Given the description of an element on the screen output the (x, y) to click on. 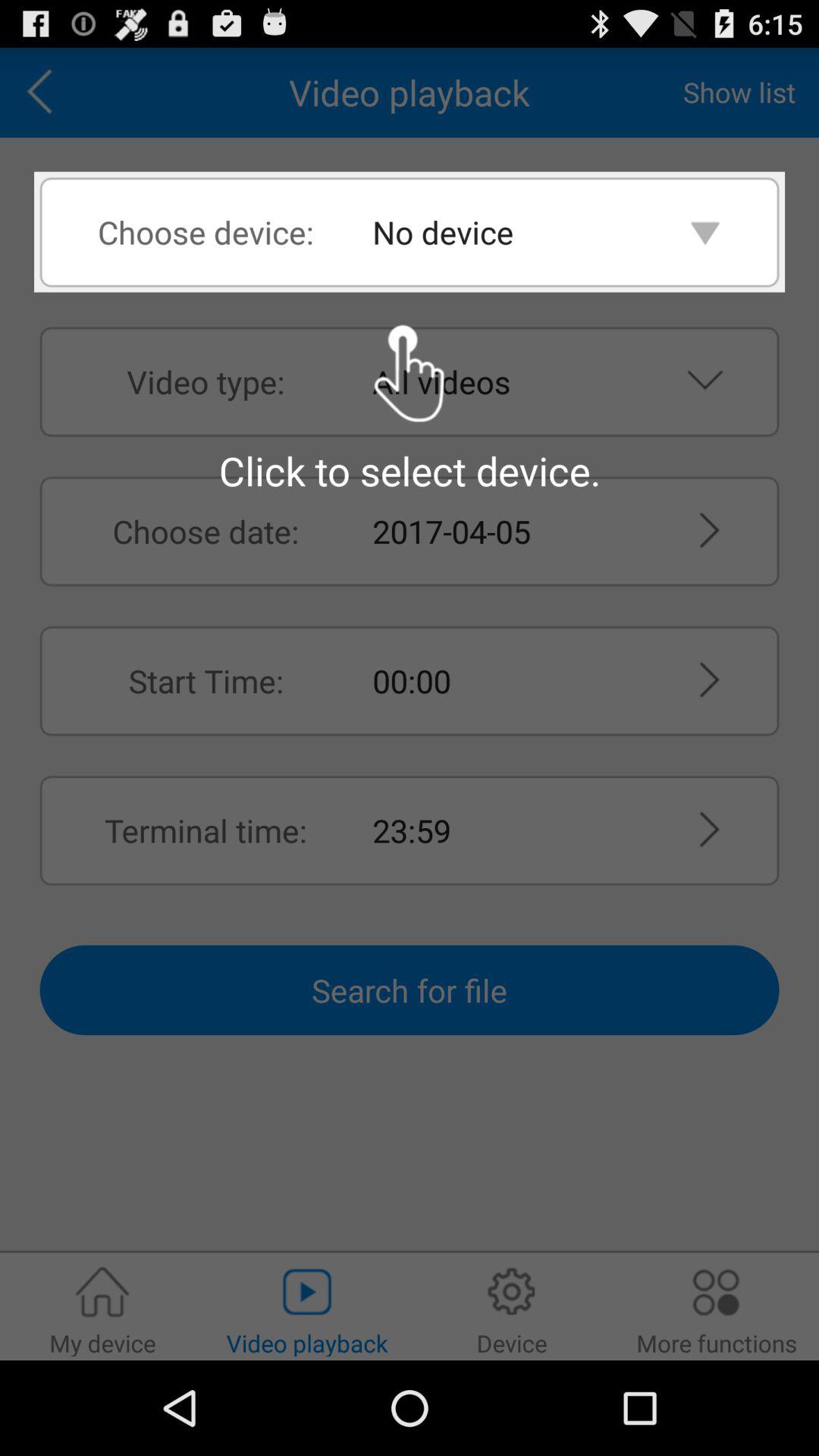
press the app above choose device: item (44, 92)
